Given the description of an element on the screen output the (x, y) to click on. 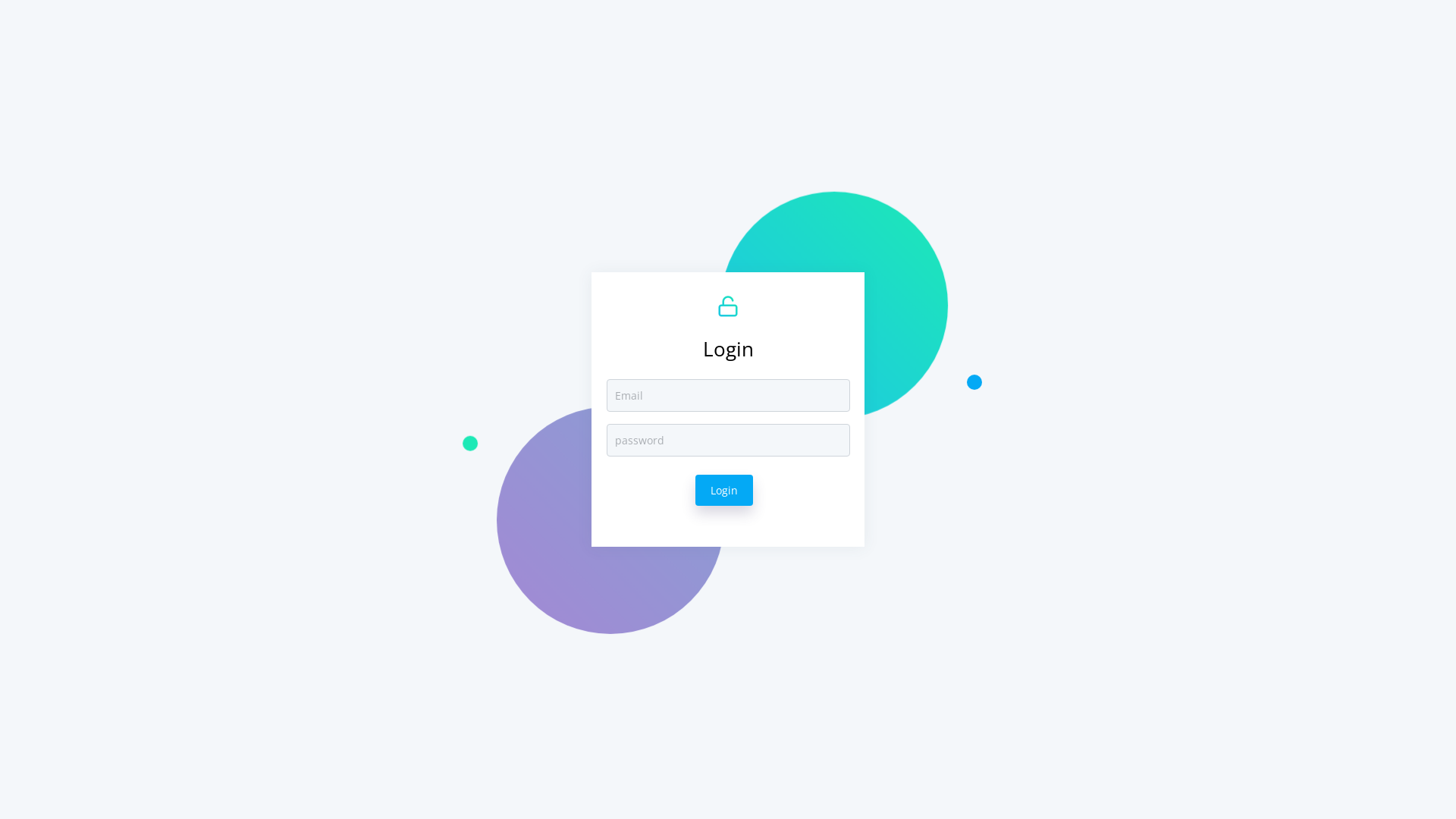
Login Element type: text (724, 489)
